Given the description of an element on the screen output the (x, y) to click on. 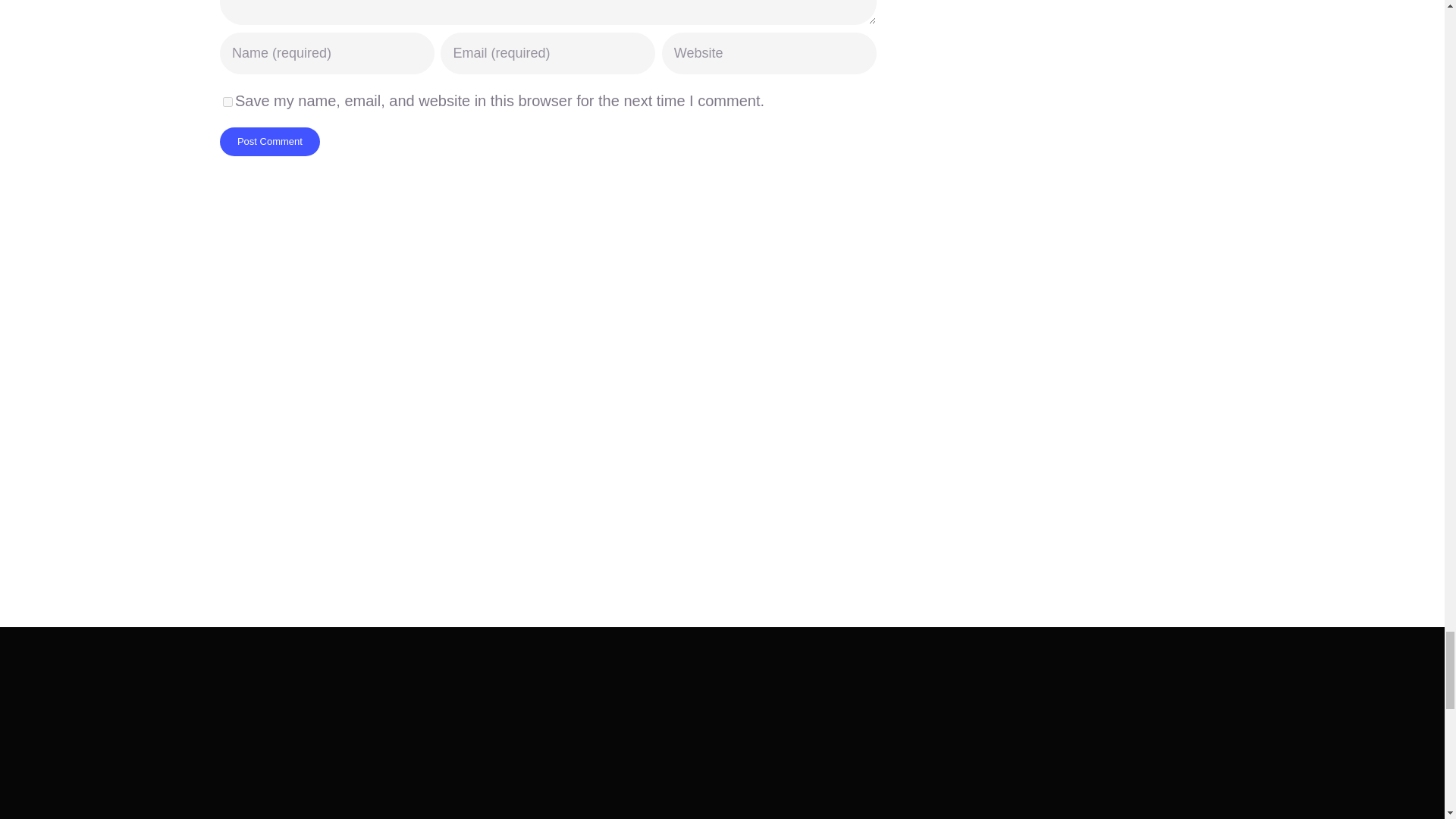
yes (227, 102)
Post Comment (269, 141)
Post Comment (269, 141)
